Given the description of an element on the screen output the (x, y) to click on. 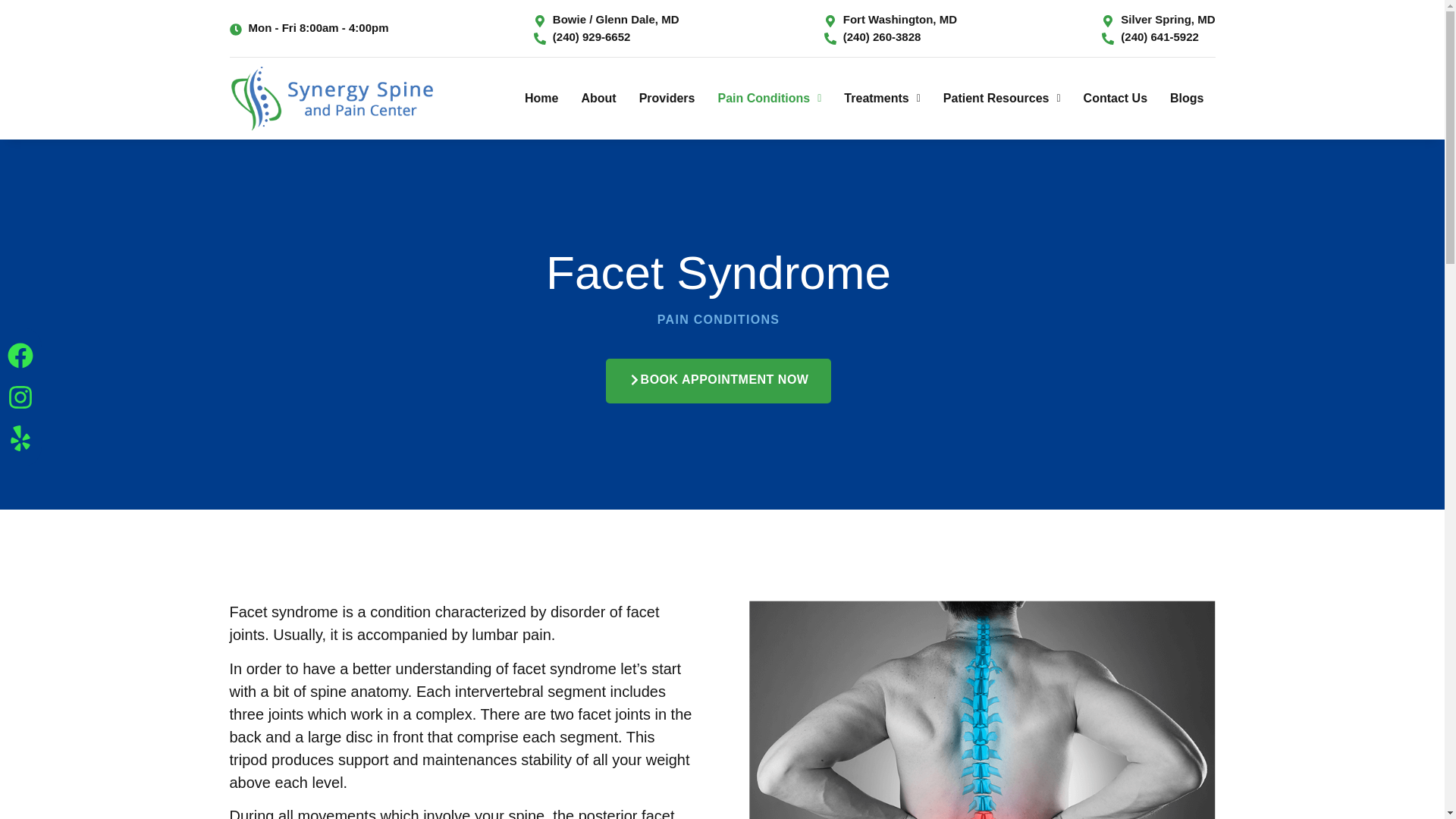
Providers (666, 98)
Home (541, 98)
Patient Resources (1001, 98)
Contact Us (1114, 98)
BOOK APPOINTMENT NOW (718, 380)
Pain Conditions (769, 98)
Treatments (881, 98)
Blogs (1186, 98)
About (598, 98)
